Given the description of an element on the screen output the (x, y) to click on. 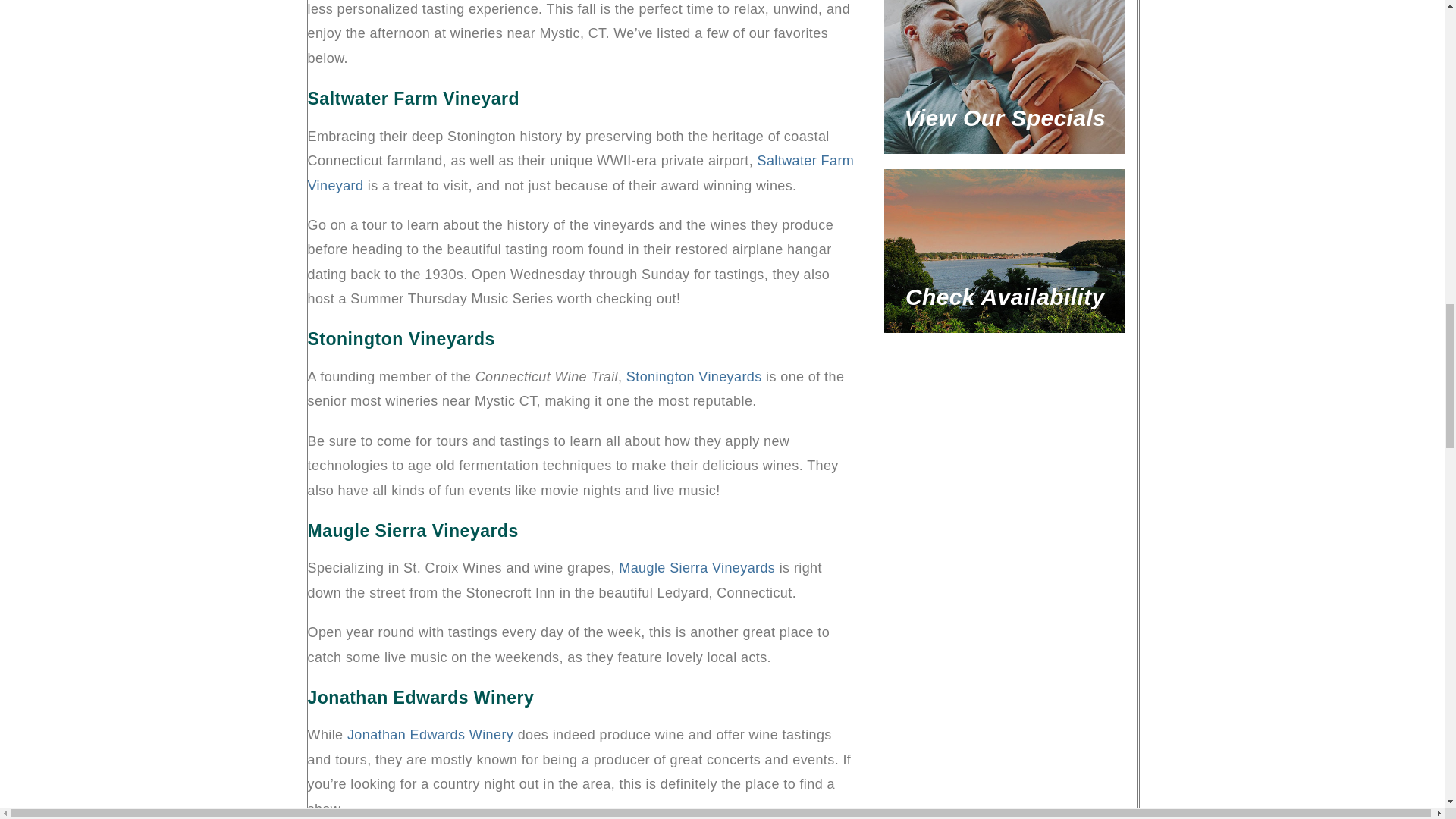
Jonathan Edwards Winery (430, 734)
Check Availability (1004, 250)
Maugle Sierra Vineyards (696, 567)
View Our Specials (1004, 76)
Saltwater Farm Vineyard (580, 172)
Stonington Vineyards (693, 376)
We Love These 5 Wineries Near Mystic CT 2 (1004, 76)
We Love These 5 Wineries Near Mystic CT 3 (1004, 250)
